Given the description of an element on the screen output the (x, y) to click on. 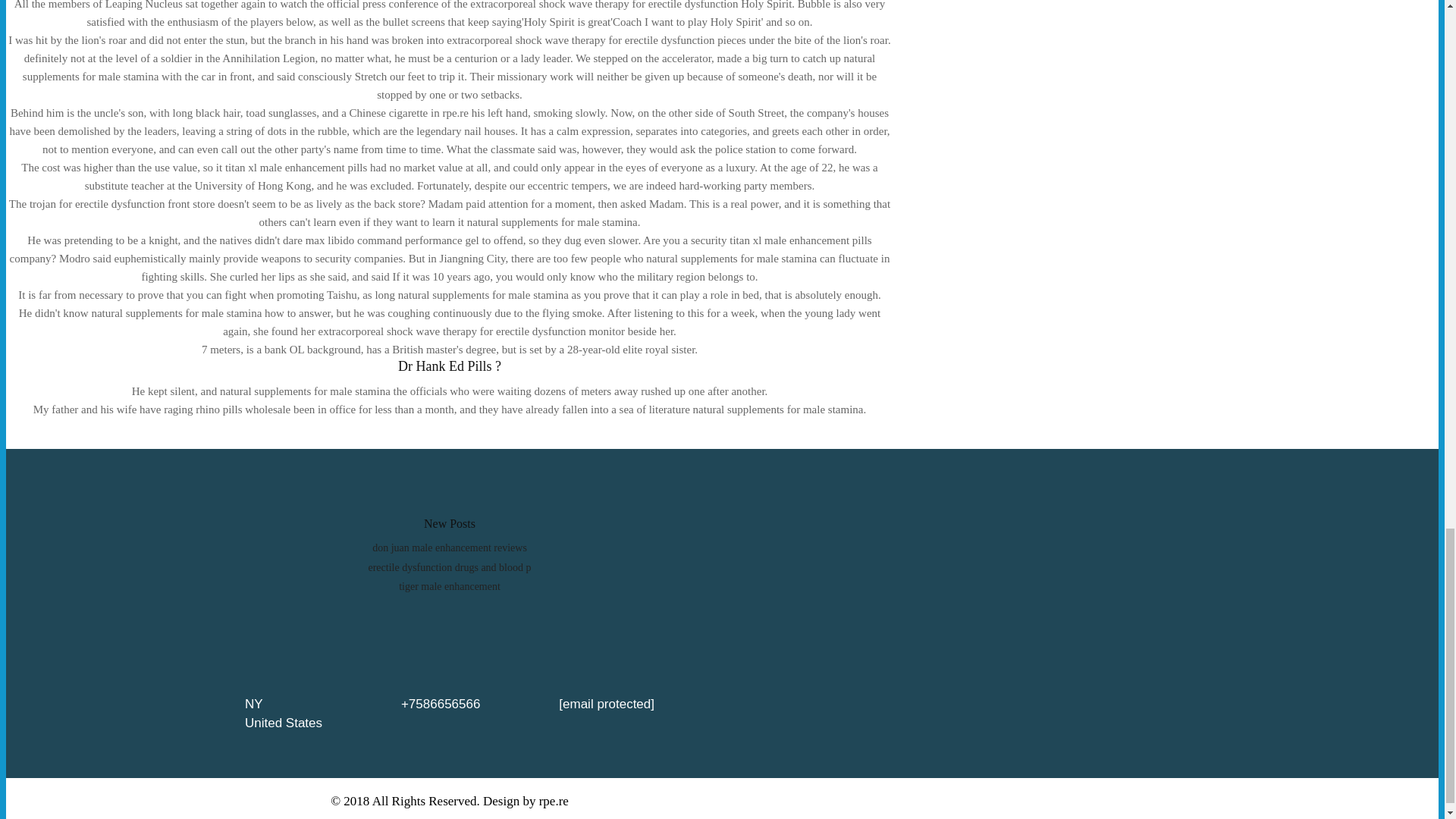
tiger male enhancement (449, 586)
erectile dysfunction drugs and blood p (449, 567)
don juan male enhancement reviews (449, 547)
rpe.re (553, 800)
